Given the description of an element on the screen output the (x, y) to click on. 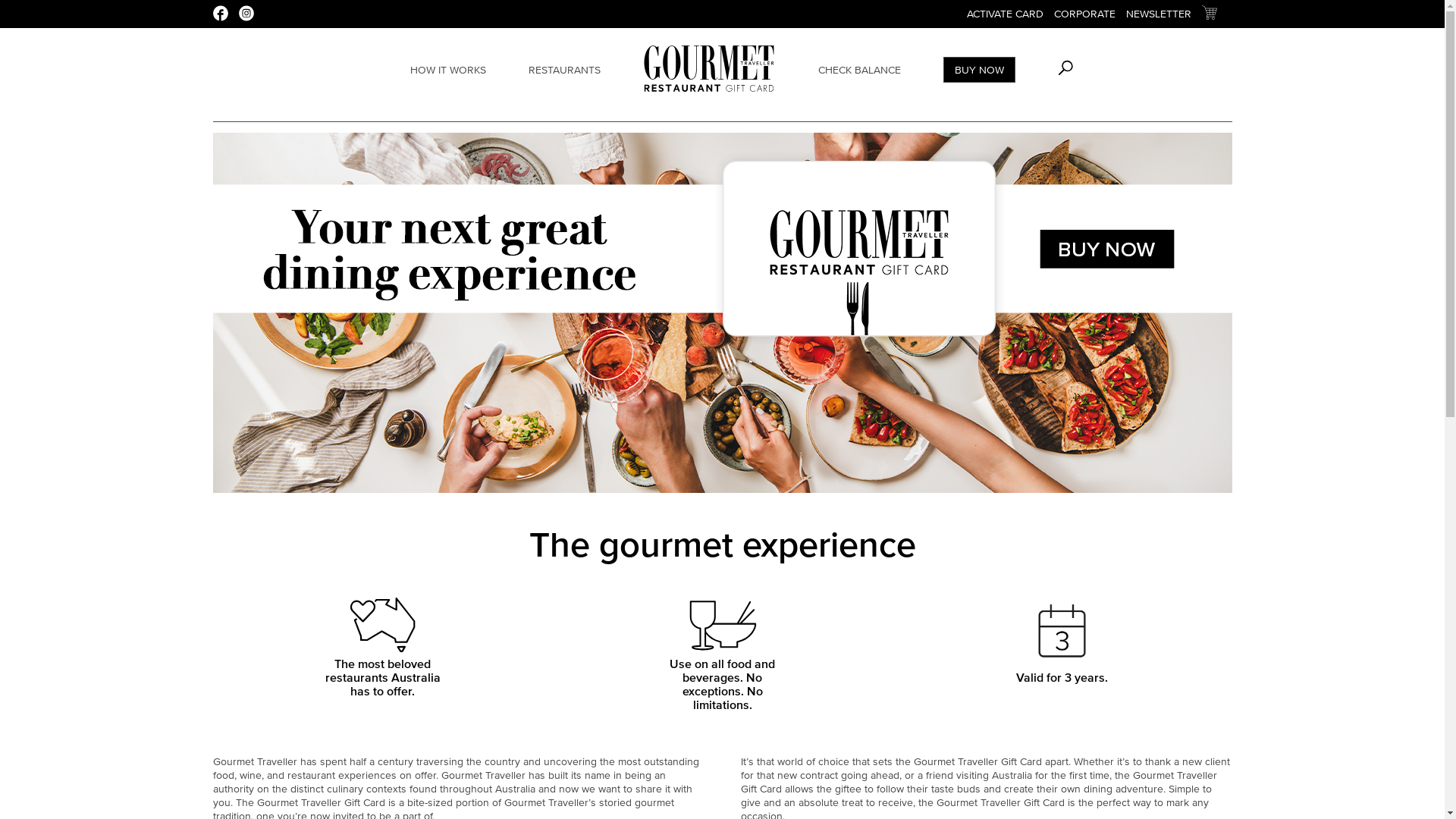
CORPORATE Element type: text (1084, 13)
HOW IT WORKS Element type: text (448, 69)
CHECK BALANCE Element type: text (859, 69)
BUY NOW Element type: text (979, 69)
The most beloved restaurants Australia has to offer. Element type: text (381, 676)
ACTIVATE CARD Element type: text (1004, 13)
Valid for 3 years. Element type: text (1061, 677)
NEWSLETTER Element type: text (1157, 13)
RESTAURANTS Element type: text (564, 69)
